Given the description of an element on the screen output the (x, y) to click on. 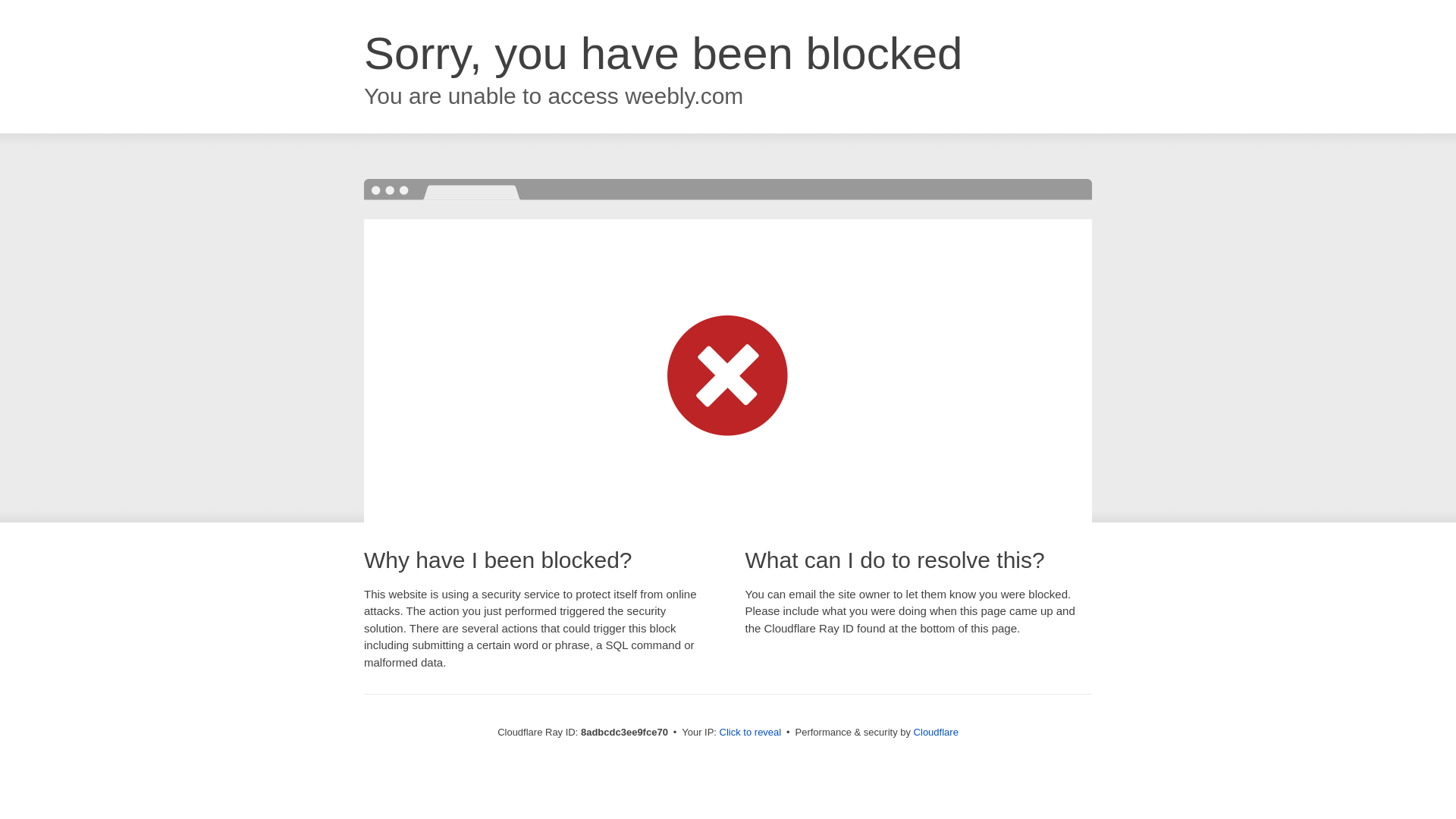
Click to reveal (750, 732)
Cloudflare (936, 731)
